Given the description of an element on the screen output the (x, y) to click on. 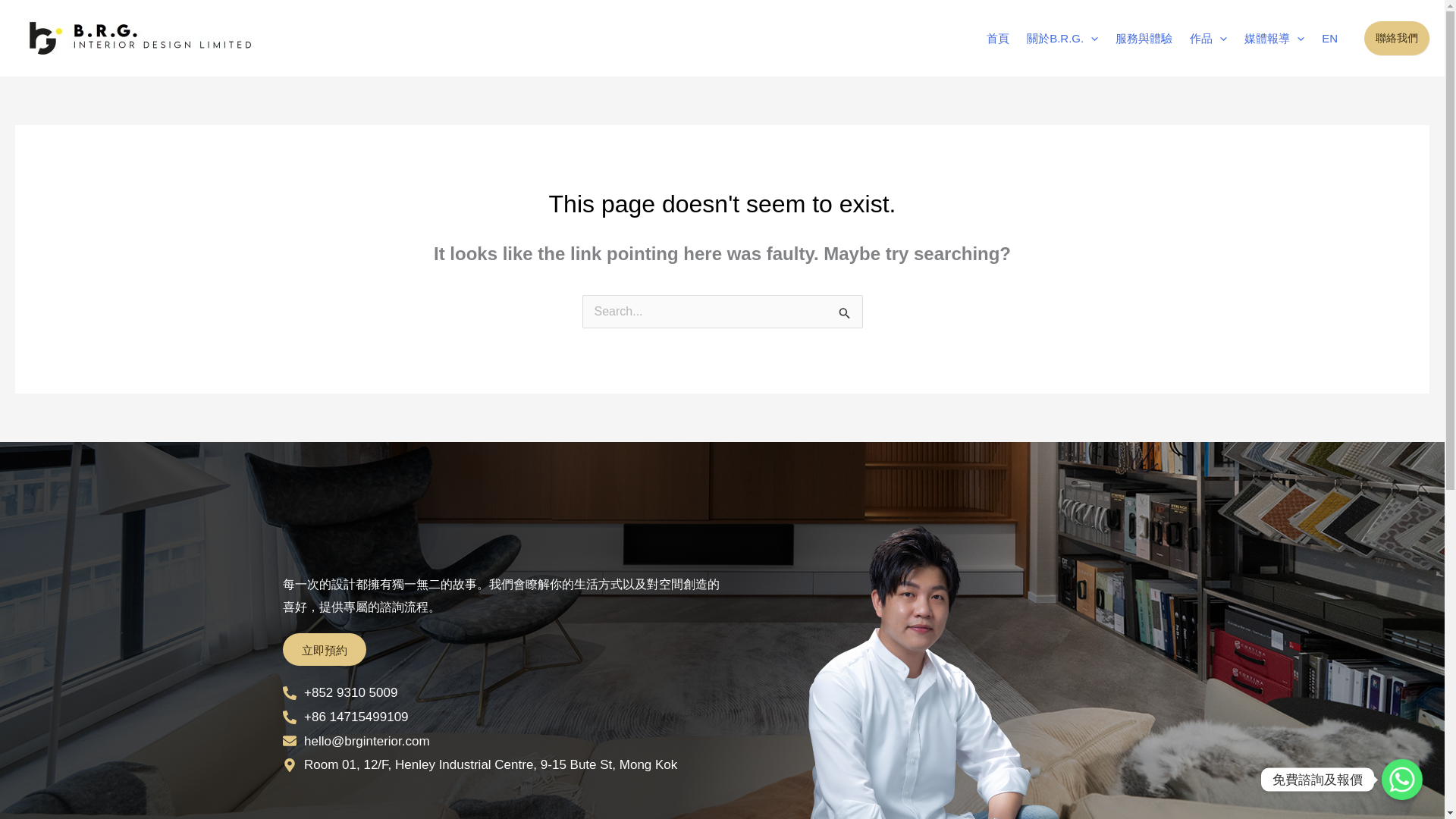
Search (844, 314)
Search (844, 314)
EN (1332, 38)
Search (844, 314)
